Given the description of an element on the screen output the (x, y) to click on. 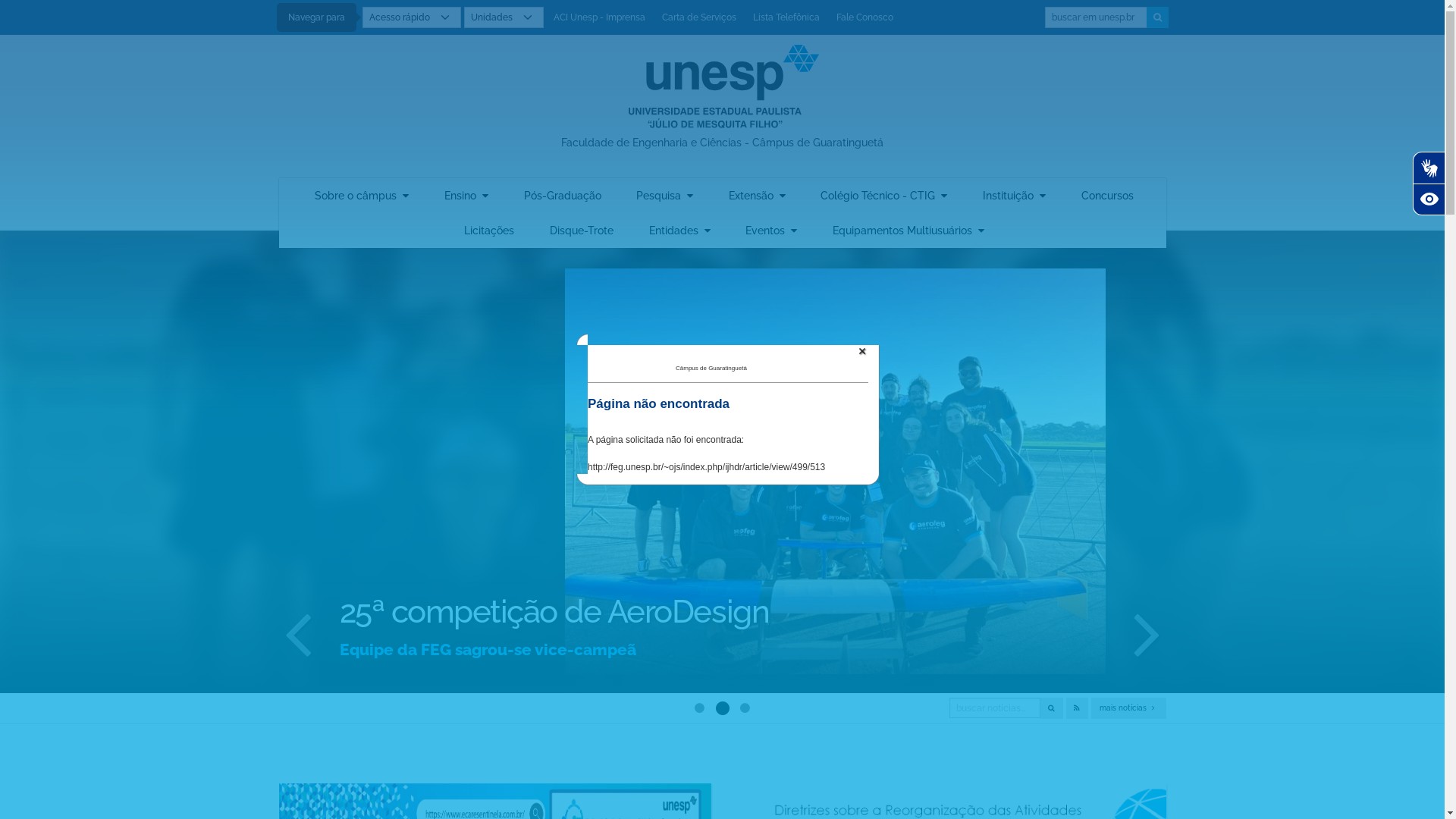
Fechar Element type: hover (862, 351)
Buscar em unesp.br Element type: hover (1095, 17)
